Given the description of an element on the screen output the (x, y) to click on. 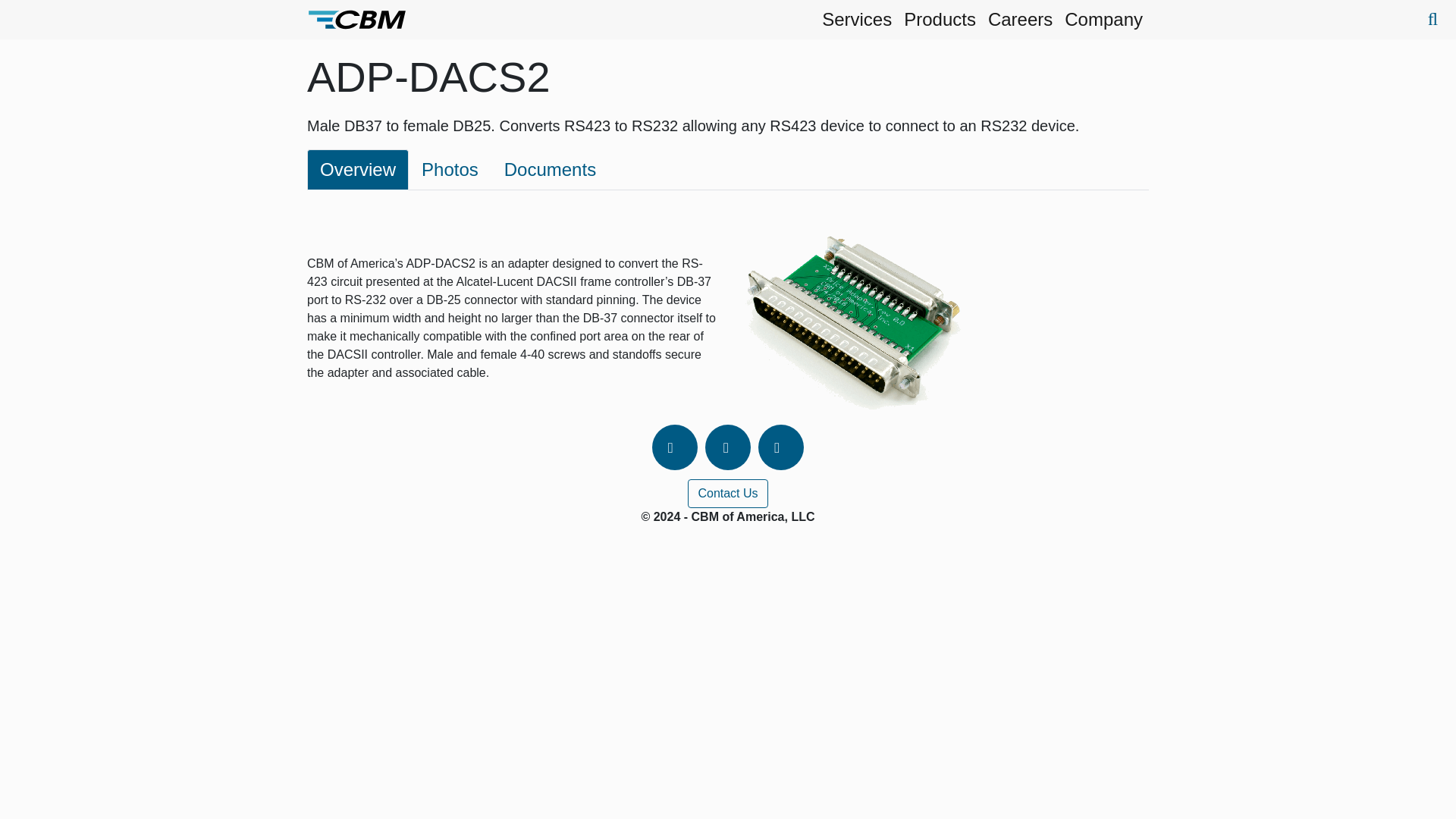
Documents (550, 169)
Company (1103, 19)
Photos (450, 169)
Contact Us (727, 493)
Services (856, 19)
Overview (358, 169)
Careers (1019, 19)
Products (939, 19)
